Given the description of an element on the screen output the (x, y) to click on. 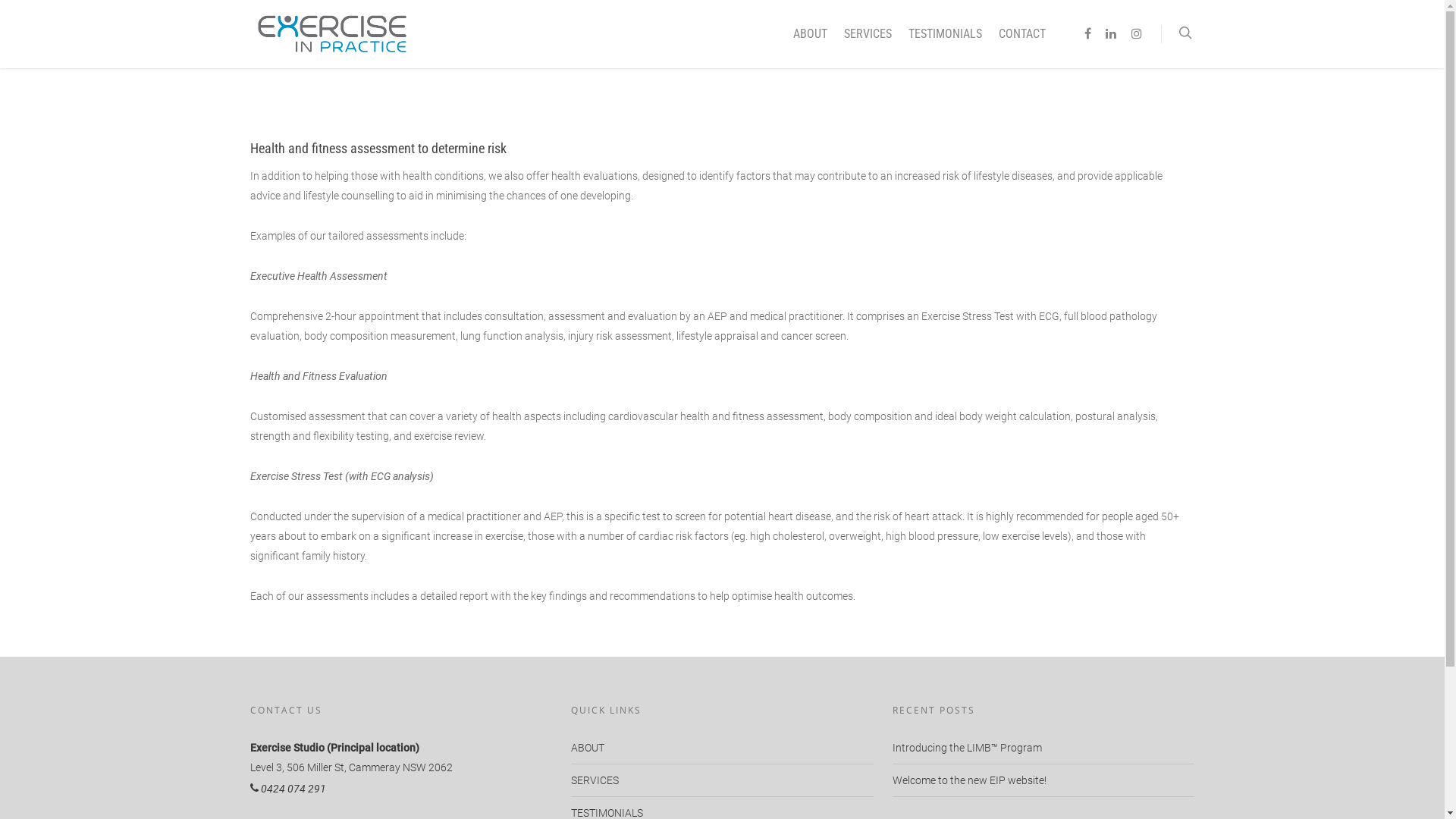
Welcome to the new EIP website! Element type: text (969, 780)
ABOUT Element type: text (721, 750)
CONTACT Element type: text (1022, 37)
SERVICES Element type: text (721, 780)
TESTIMONIALS Element type: text (944, 37)
SERVICES Element type: text (867, 37)
ABOUT Element type: text (809, 37)
